Given the description of an element on the screen output the (x, y) to click on. 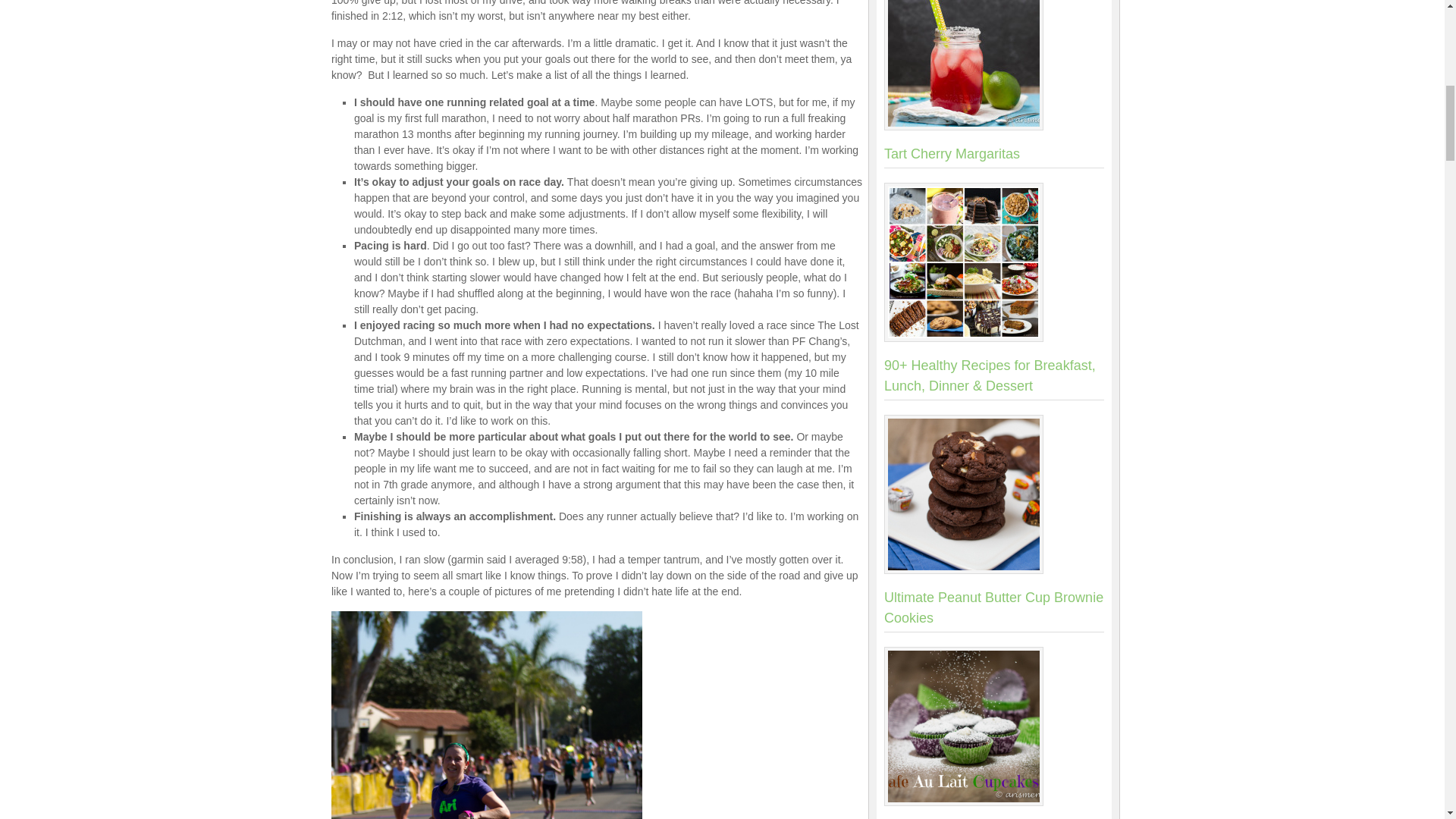
afcsandiegohalf-177 (486, 714)
